Given the description of an element on the screen output the (x, y) to click on. 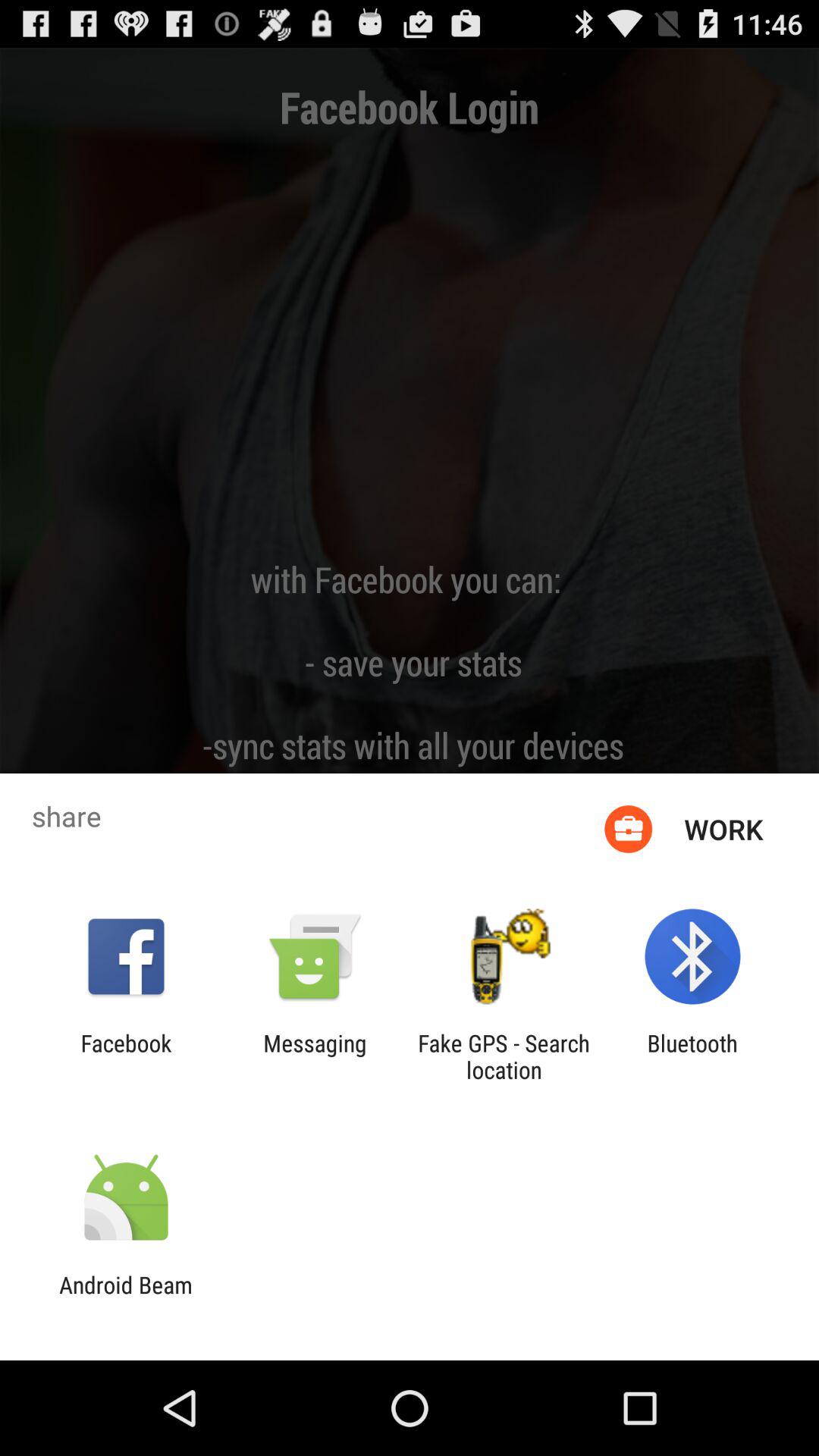
scroll until the bluetooth (692, 1056)
